Given the description of an element on the screen output the (x, y) to click on. 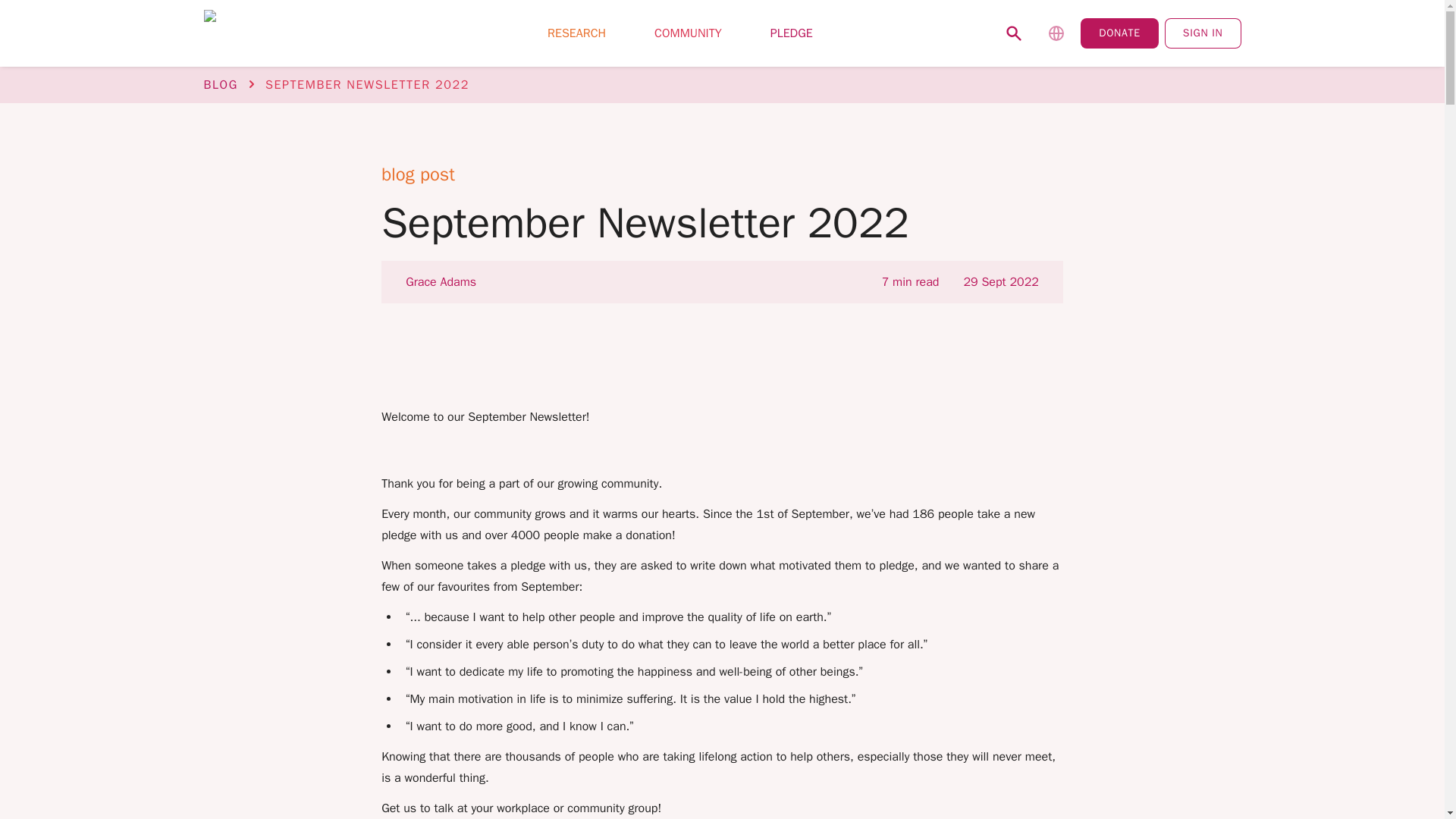
SEPTEMBER NEWSLETTER 2022 (366, 84)
DONATE (1119, 33)
PLEDGE (791, 33)
COMMUNITY (687, 33)
BLOG (220, 84)
Locale menu (1056, 33)
RESEARCH (576, 33)
Search (1013, 33)
SIGN IN (1202, 33)
Grace Adams (441, 281)
